Given the description of an element on the screen output the (x, y) to click on. 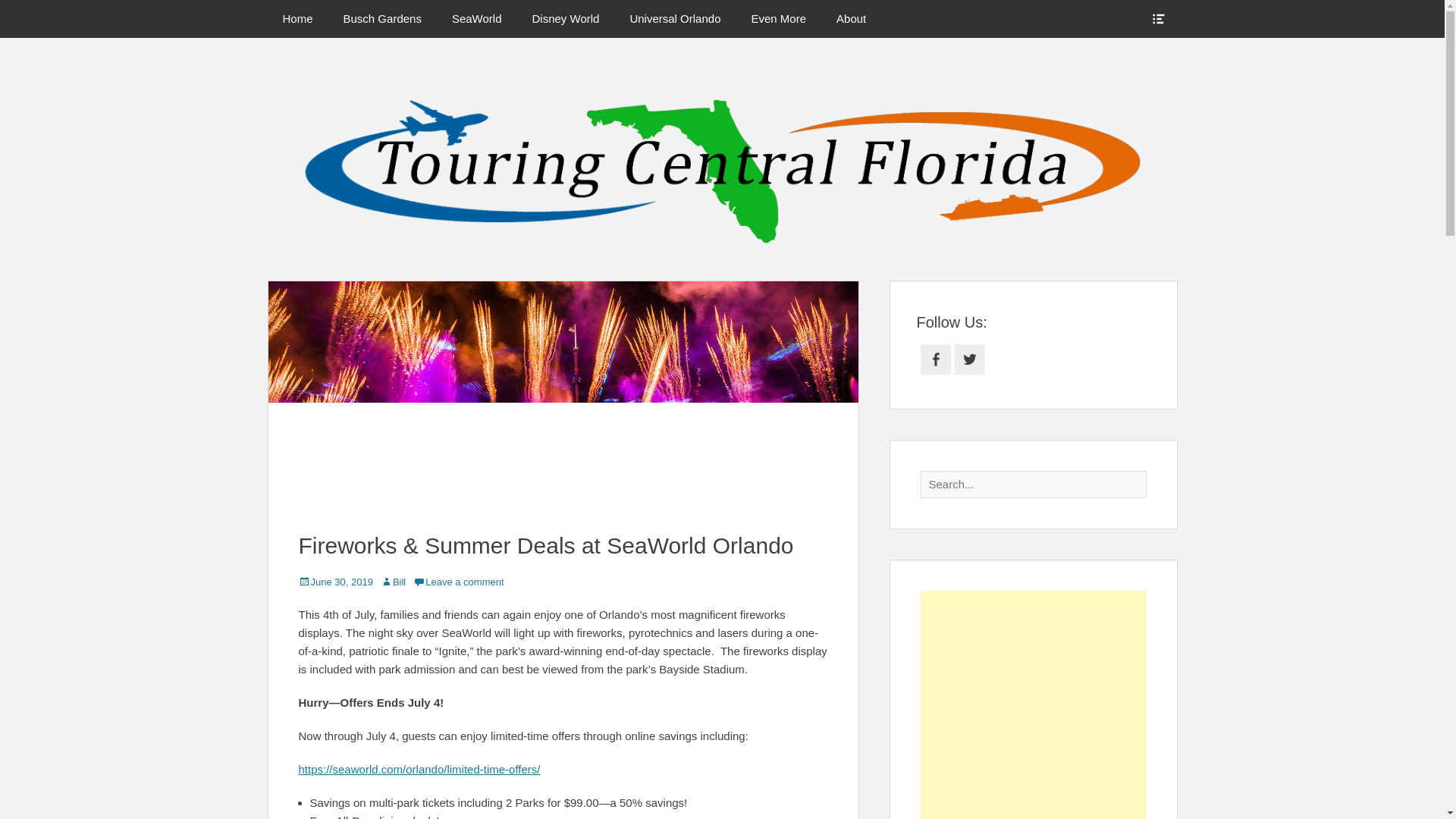
Facebook (935, 358)
Home (296, 18)
June 30, 2019 (335, 582)
Even More (778, 18)
Universal Orlando (674, 18)
Bill (393, 582)
Touring Central Florida (888, 85)
About (850, 18)
Search for: (1033, 483)
SeaWorld (476, 18)
